Given the description of an element on the screen output the (x, y) to click on. 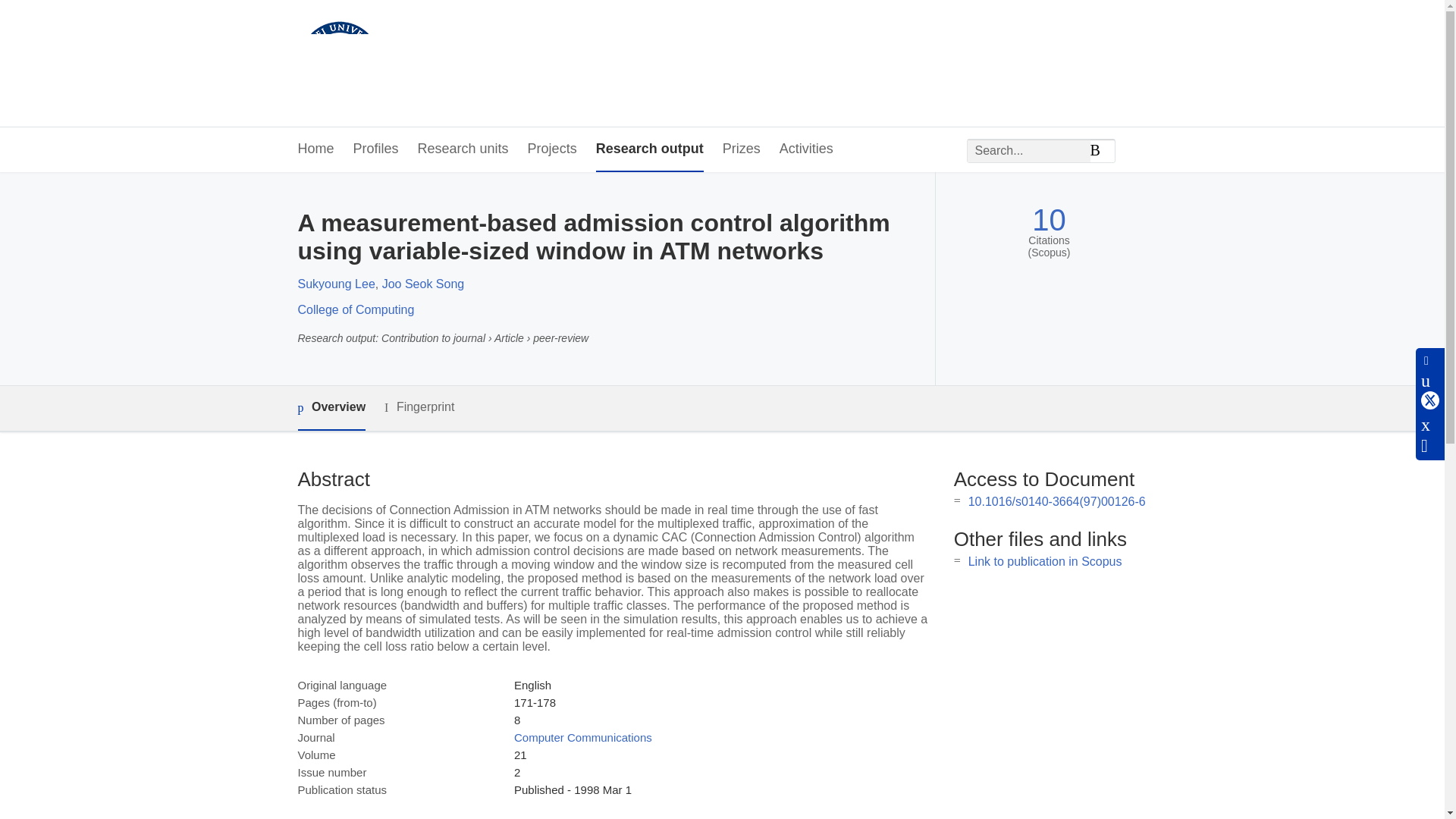
Research units (462, 149)
Projects (551, 149)
Link to publication in Scopus (1045, 561)
Fingerprint (419, 407)
Computer Communications (582, 737)
Activities (805, 149)
Yonsei University Home (433, 63)
College of Computing (355, 309)
Overview (331, 407)
Joo Seok Song (422, 283)
Profiles (375, 149)
Research output (649, 149)
10 (1048, 220)
Sukyoung Lee (335, 283)
